Given the description of an element on the screen output the (x, y) to click on. 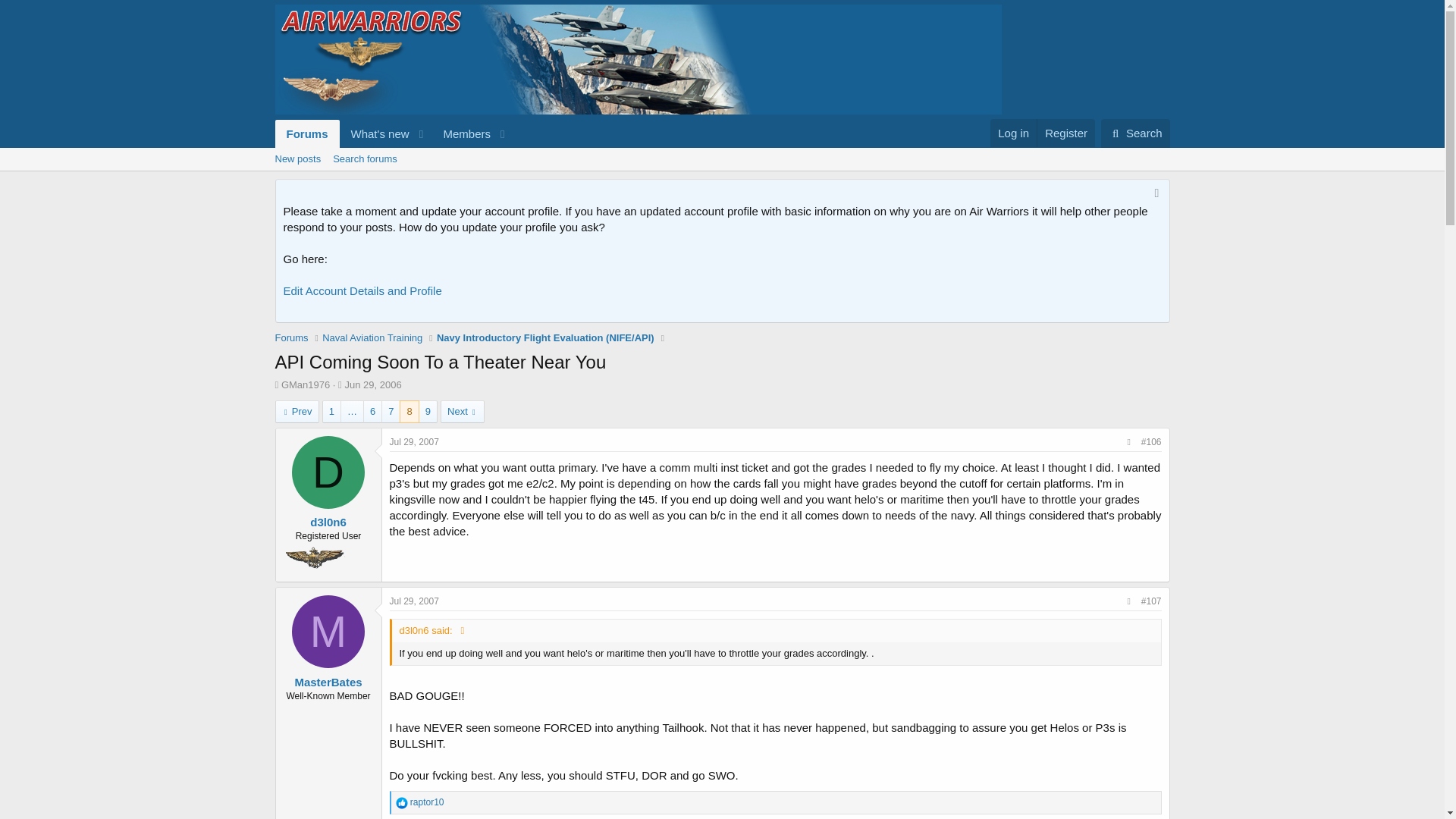
Prev (296, 411)
Forums (291, 337)
Members (461, 133)
Search forums (364, 159)
What's new (374, 133)
New posts (296, 159)
Jul 29, 2007 at 6:50 PM (414, 601)
Search (1135, 133)
Register (1065, 132)
Jun 29, 2006 (720, 176)
Jul 29, 2007 at 6:40 PM (372, 384)
Log in (392, 133)
Jun 29, 2006 at 7:03 PM (414, 441)
